Given the description of an element on the screen output the (x, y) to click on. 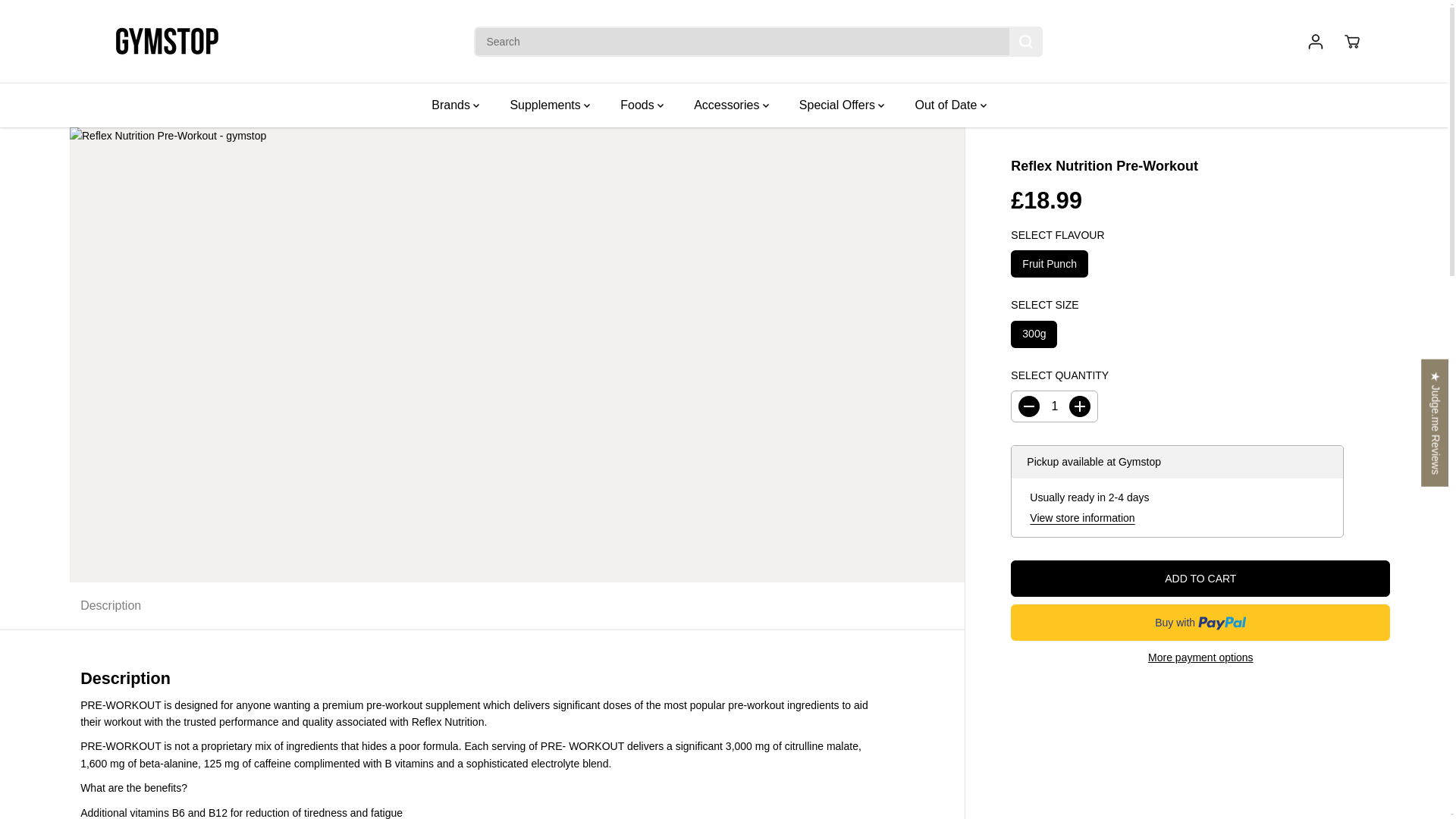
Fruit Punch (1048, 263)
Log in (1315, 41)
300g (1033, 334)
Cart (1351, 41)
Fruit Punch (1048, 263)
300g (1033, 334)
1 (1053, 406)
SKIP TO CONTENT (60, 18)
